Given the description of an element on the screen output the (x, y) to click on. 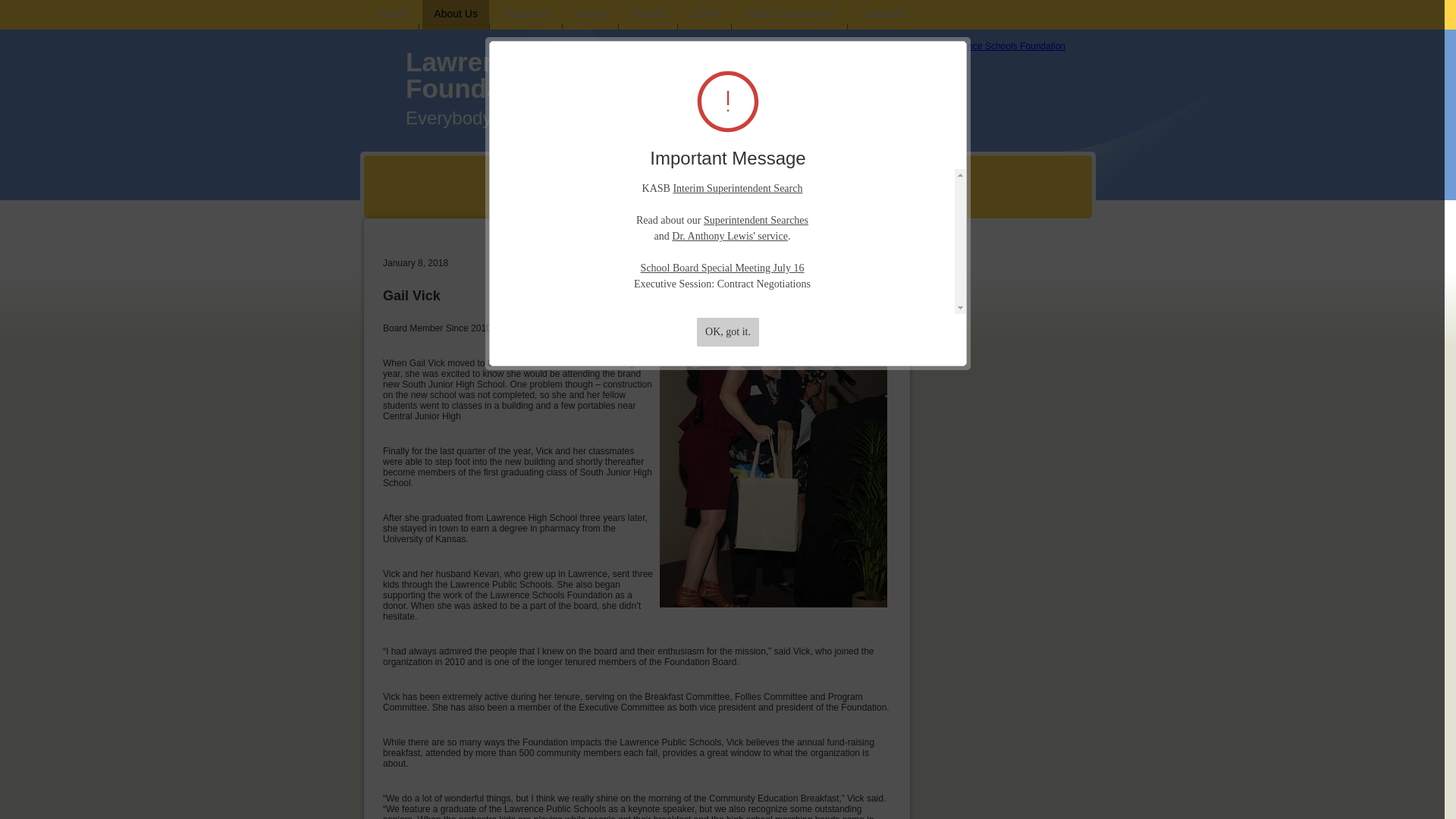
OK, got it. (727, 331)
School Board Special Meeting July 16 (722, 267)
Home (393, 14)
Programs (527, 14)
About Us (455, 14)
Interim Superintendent Search (737, 188)
Dr. Anthony Lewis' service (729, 235)
Lawrence Schools Foundation (998, 45)
Superintendent Searches (755, 220)
